Given the description of an element on the screen output the (x, y) to click on. 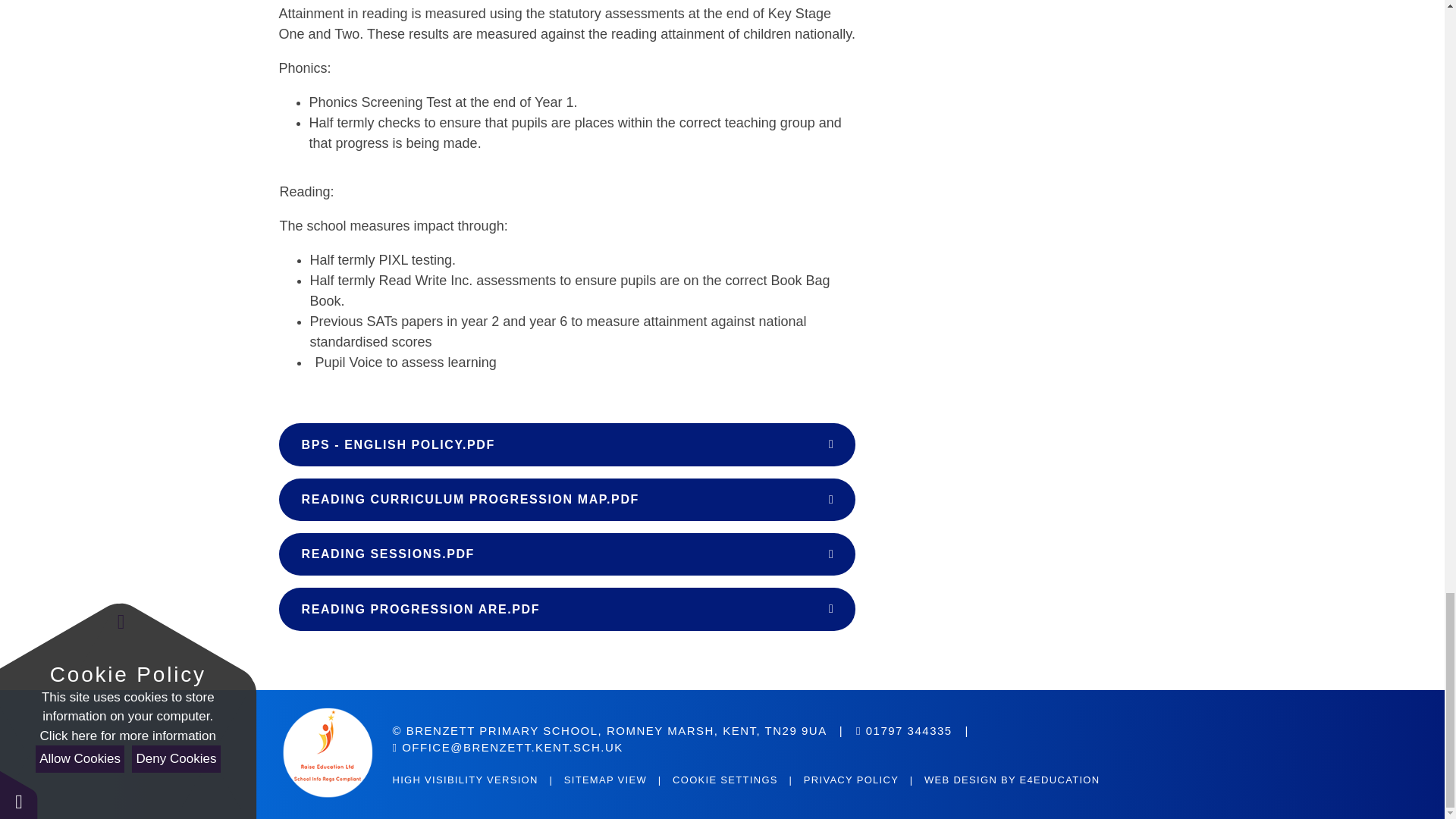
Cookie Settings (724, 779)
Raise Education Ltd - School Info Regs Compliant (332, 754)
